Given the description of an element on the screen output the (x, y) to click on. 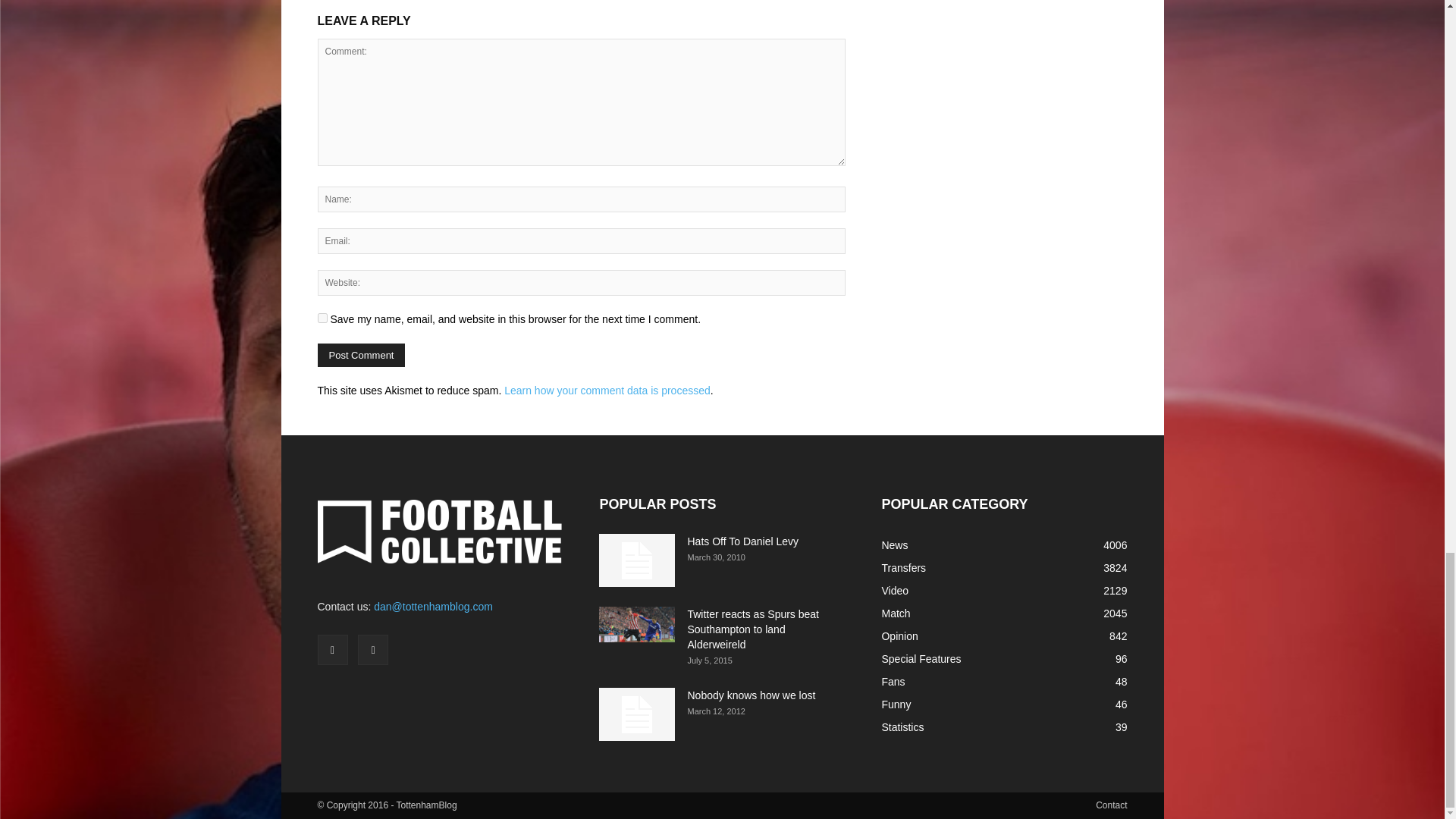
yes (321, 317)
Post Comment (360, 354)
